Given the description of an element on the screen output the (x, y) to click on. 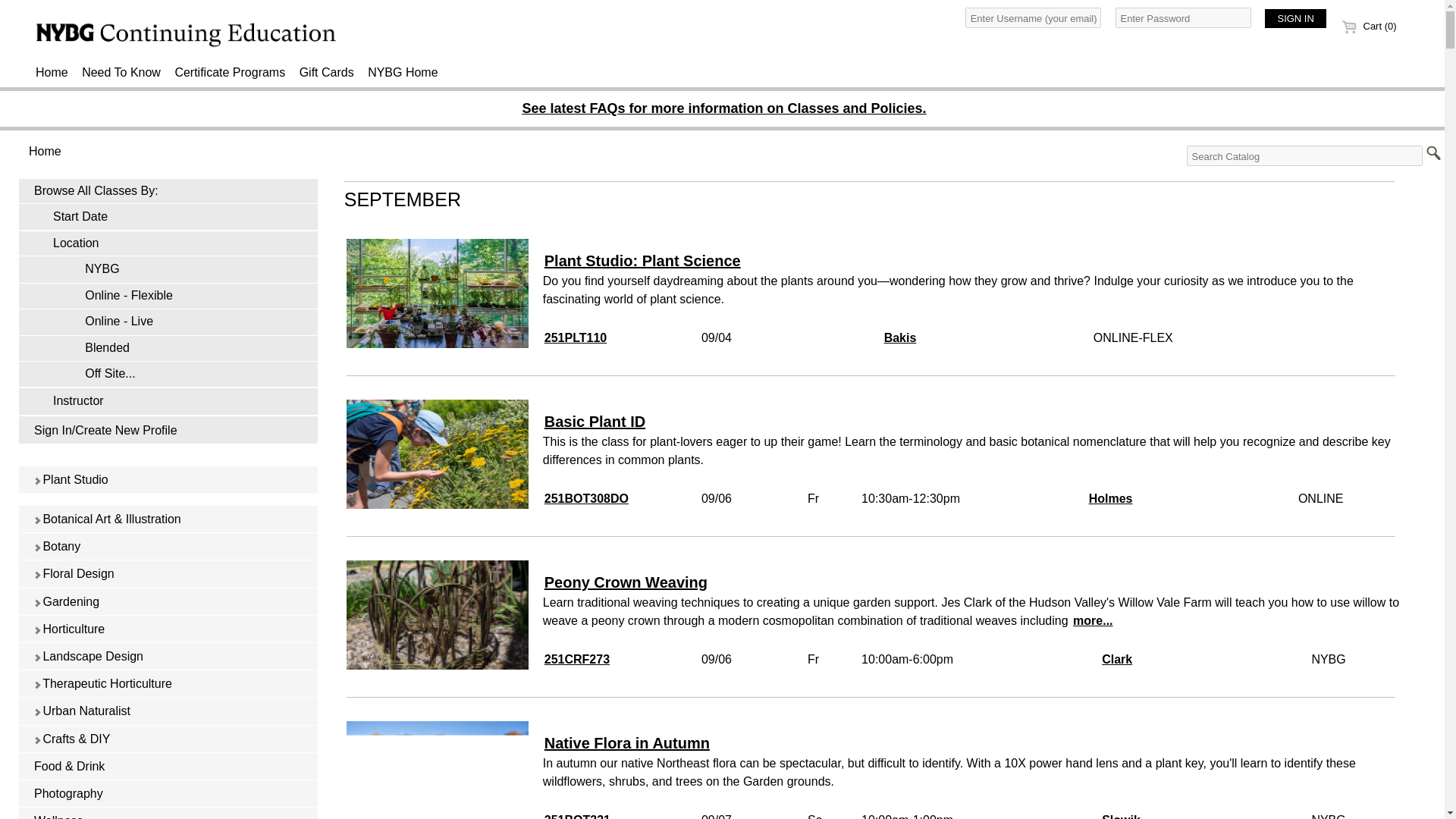
Enter Password (1182, 17)
Home (52, 72)
     Online - Live (167, 322)
     Blended (167, 348)
Gift Cards (326, 72)
Need To Know (121, 72)
Plant Studio (167, 479)
NYBG Home (402, 72)
Start Date (167, 217)
